Given the description of an element on the screen output the (x, y) to click on. 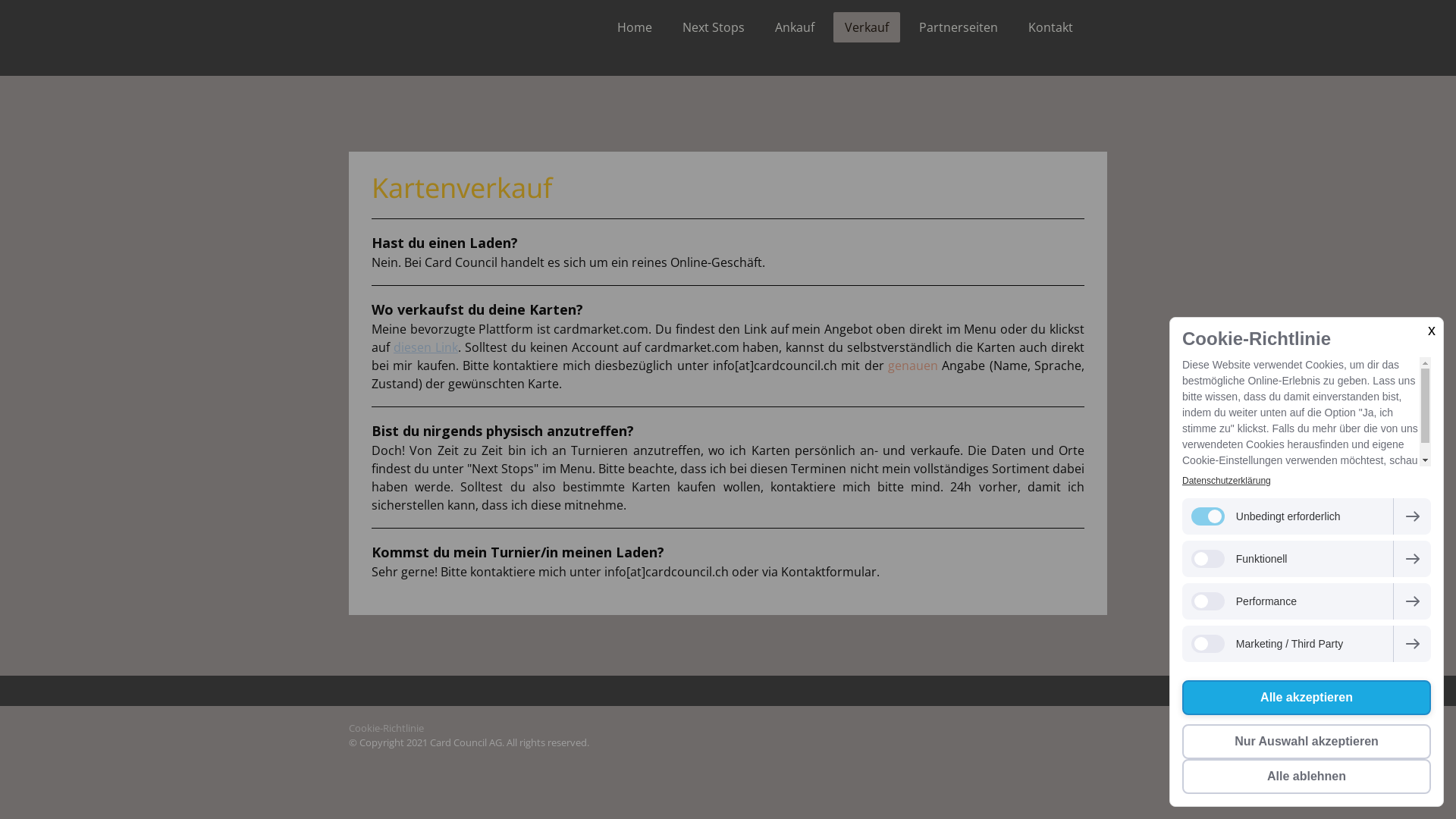
Nur Auswahl akzeptieren Element type: text (1306, 741)
Kontakt Element type: text (1050, 27)
diesen Link Element type: text (425, 346)
Alle ablehnen Element type: text (1306, 776)
Home Element type: text (634, 27)
Partnerseiten Element type: text (958, 27)
Cookie-Richtlinie Element type: text (385, 727)
Alle akzeptieren Element type: text (1306, 697)
Verkauf Element type: text (866, 27)
Next Stops Element type: text (713, 27)
Ankauf Element type: text (794, 27)
